Given the description of an element on the screen output the (x, y) to click on. 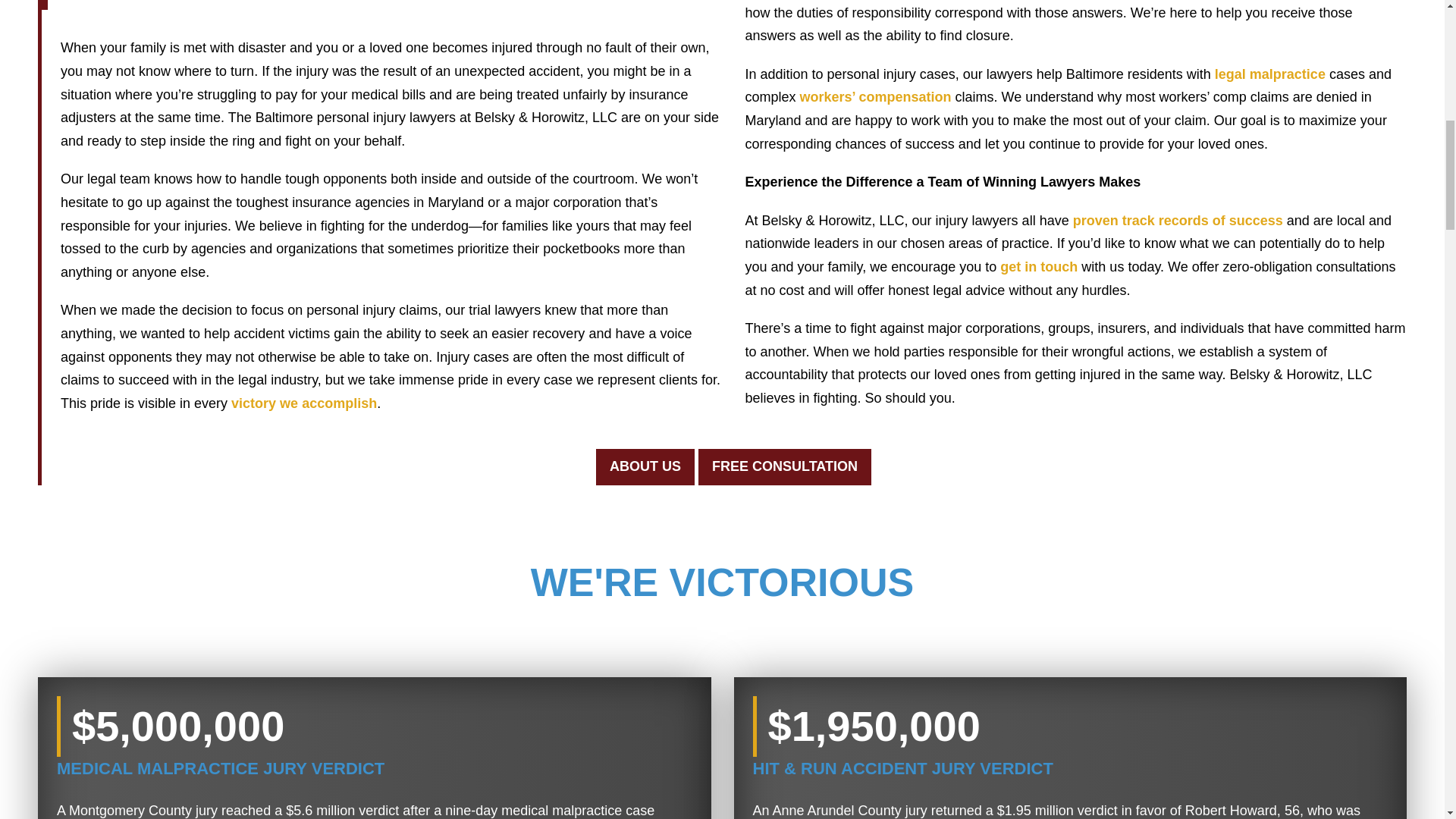
FREE CONSULTATION (784, 466)
get in touch (1038, 266)
proven track records of success (1177, 220)
victory we accomplish (304, 403)
ABOUT US (644, 466)
legal malpractice (1269, 73)
